Given the description of an element on the screen output the (x, y) to click on. 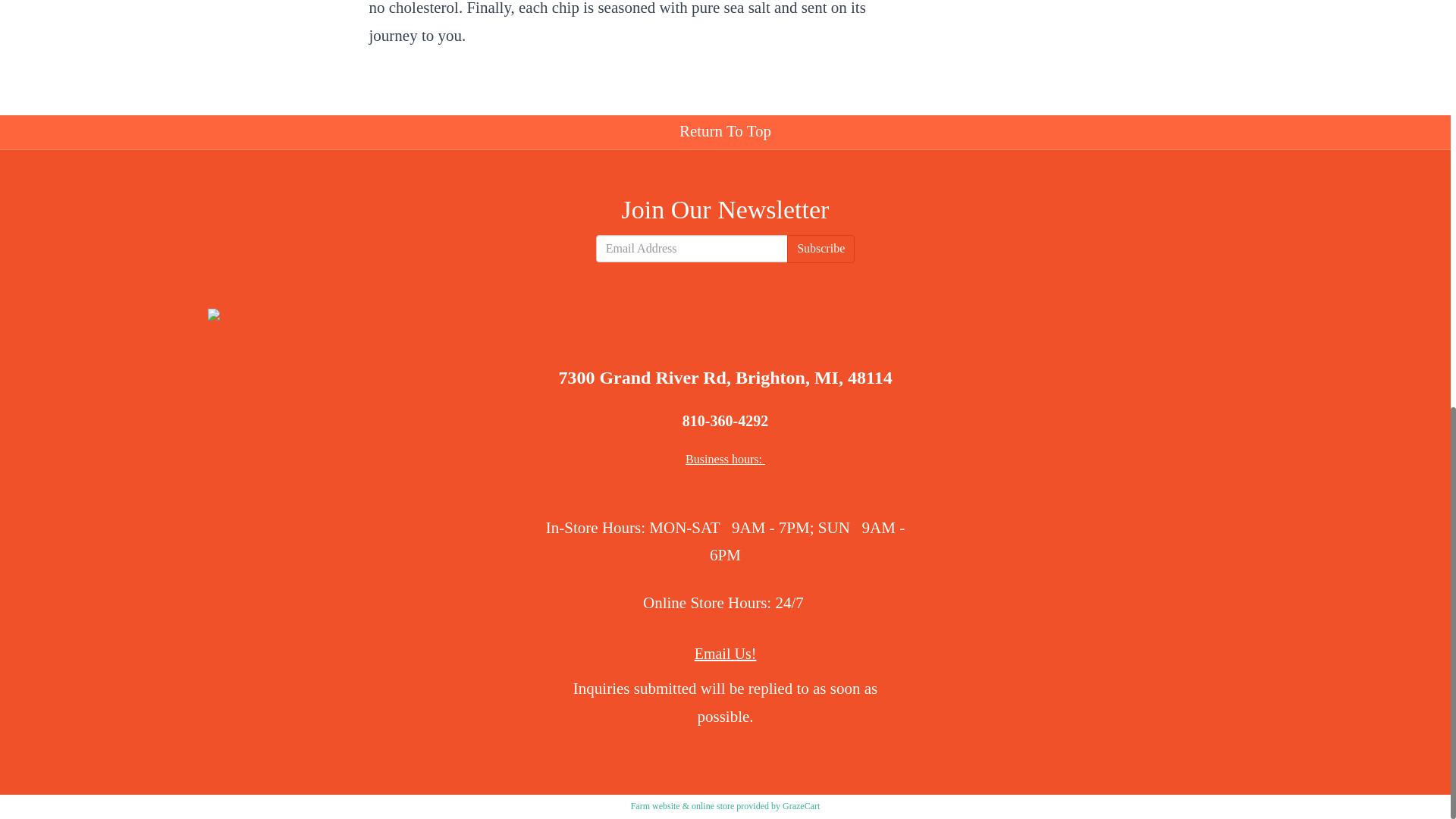
Subscribe (820, 248)
Email Us! (725, 653)
GrazeCart (801, 805)
Return To Top (724, 132)
